Given the description of an element on the screen output the (x, y) to click on. 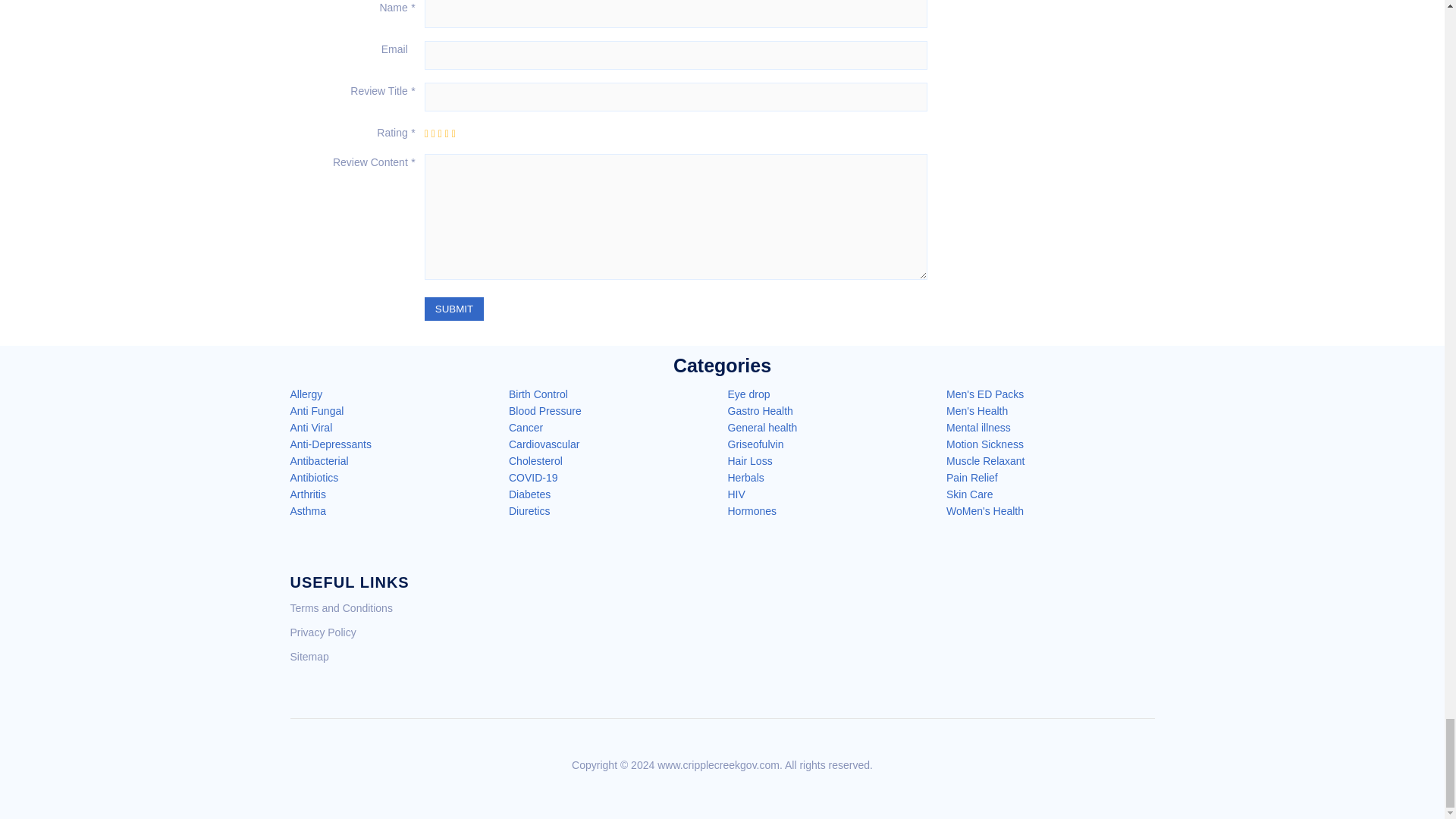
COVID-19 (532, 477)
Cholesterol (535, 460)
Cancer (525, 427)
Birth Control (537, 394)
Submit (454, 309)
Anti-Depressants (330, 444)
Eye drop (749, 394)
Antibiotics (313, 477)
Gastro Health (760, 410)
Asthma (306, 510)
Antibacterial (318, 460)
Diabetes (529, 494)
Anti Fungal (316, 410)
Cardiovascular (543, 444)
Anti Viral (310, 427)
